Given the description of an element on the screen output the (x, y) to click on. 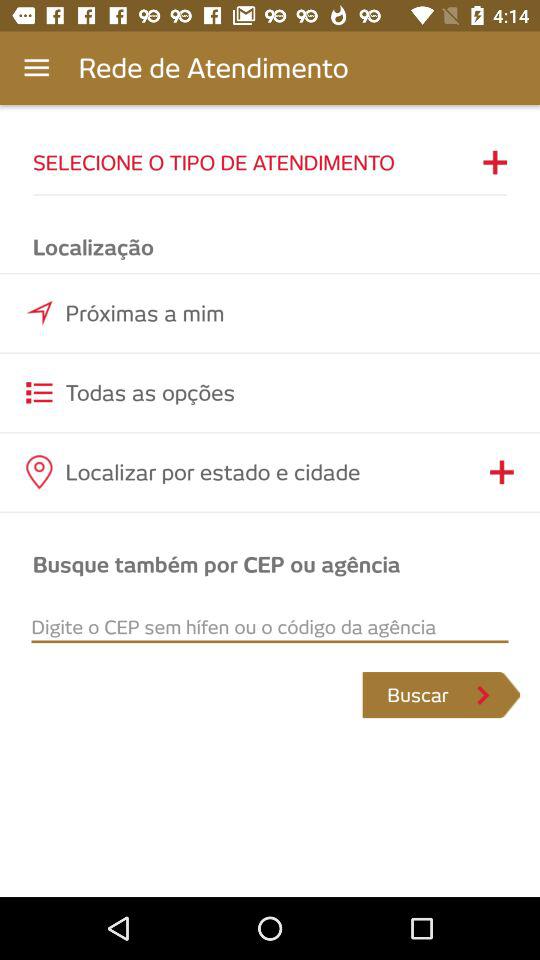
turn off the item to the left of the rede de atendimento app (36, 68)
